Given the description of an element on the screen output the (x, y) to click on. 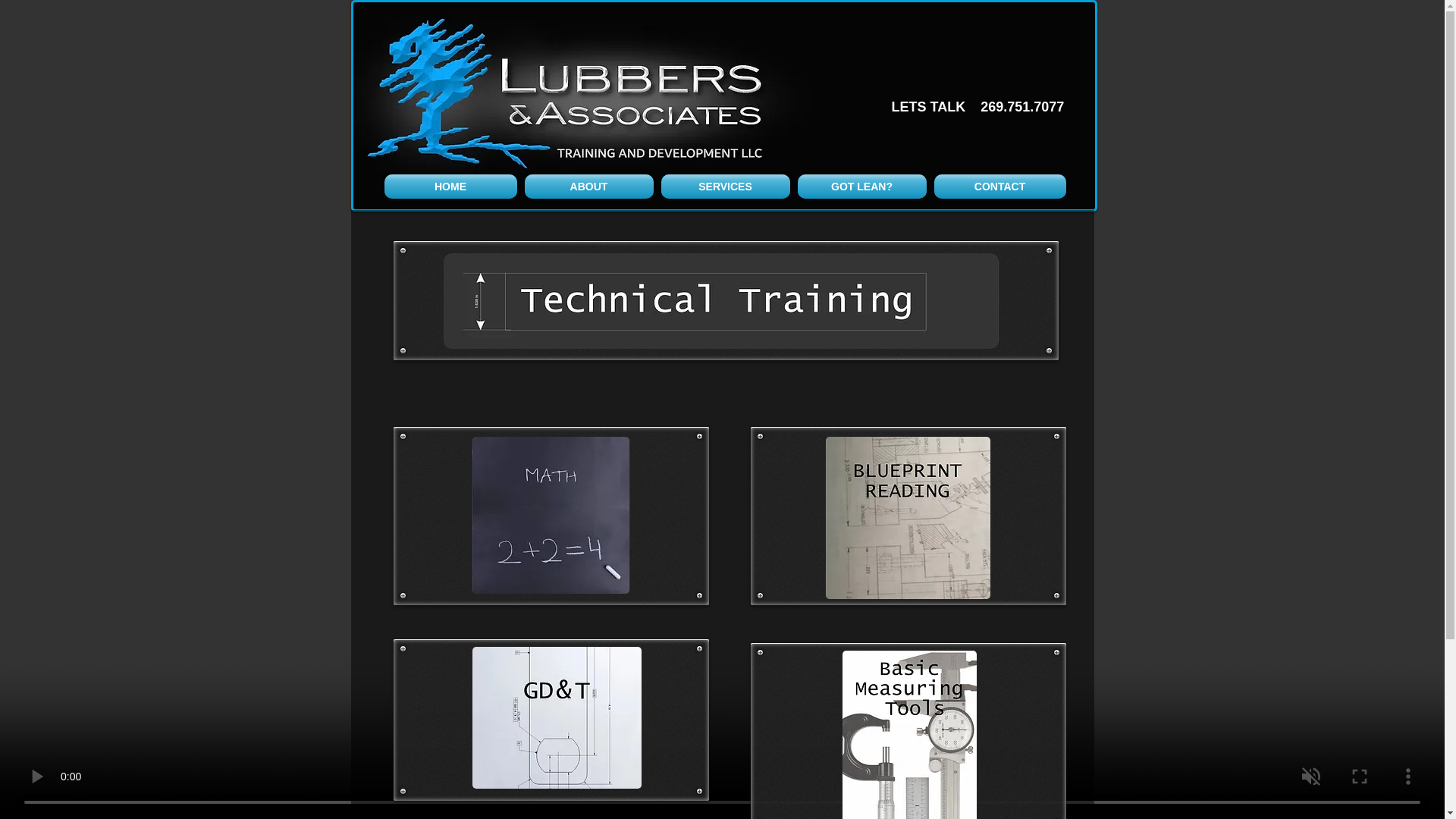
GOT LEAN? (861, 186)
HOME (451, 186)
ABOUT (587, 186)
CONTACT (997, 186)
SERVICES (724, 186)
